Given the description of an element on the screen output the (x, y) to click on. 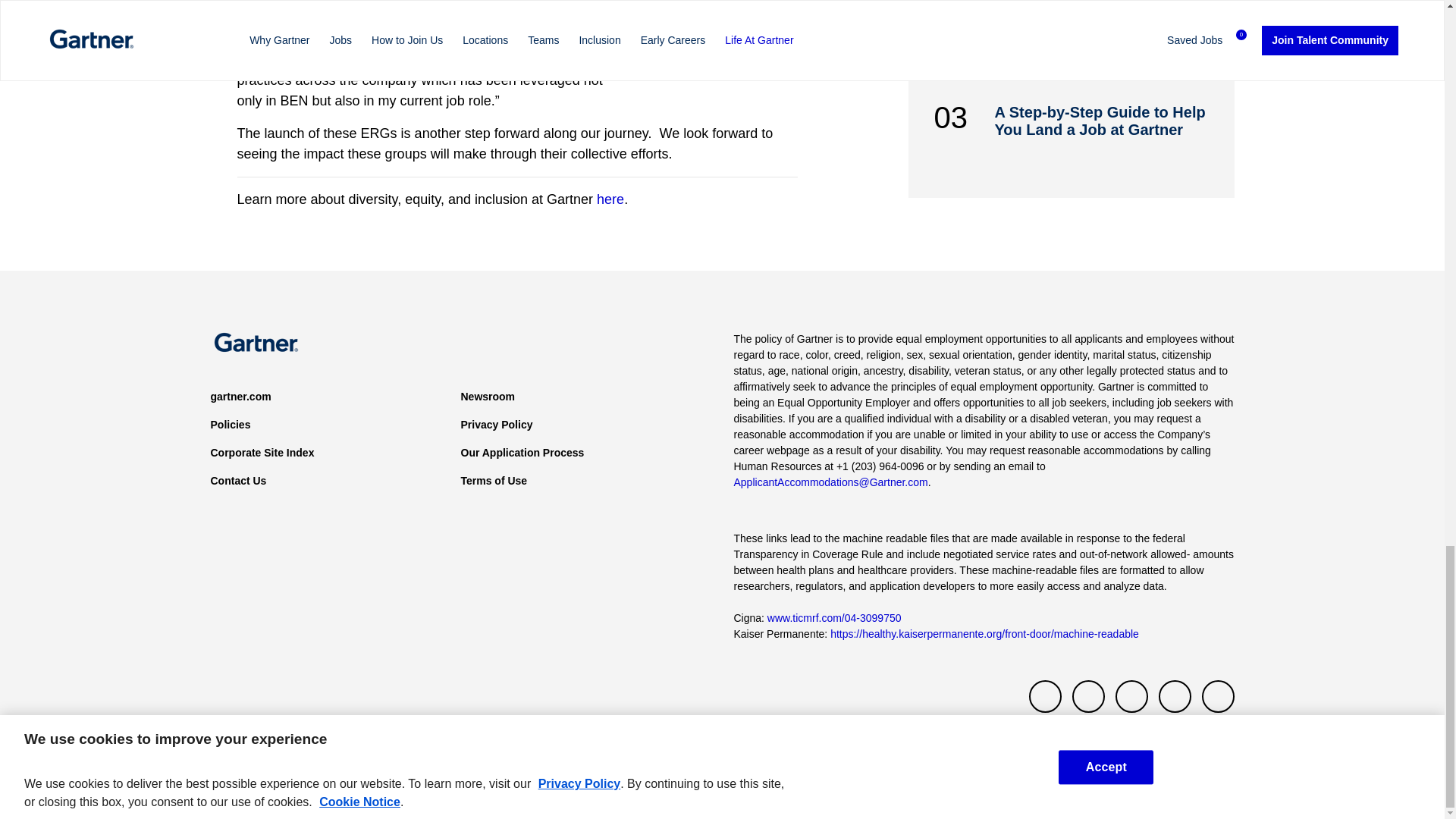
Facebook (1088, 696)
YouTube (1174, 696)
Instagram (1217, 696)
Twitter (1045, 696)
LinkedIn (1131, 696)
